Given the description of an element on the screen output the (x, y) to click on. 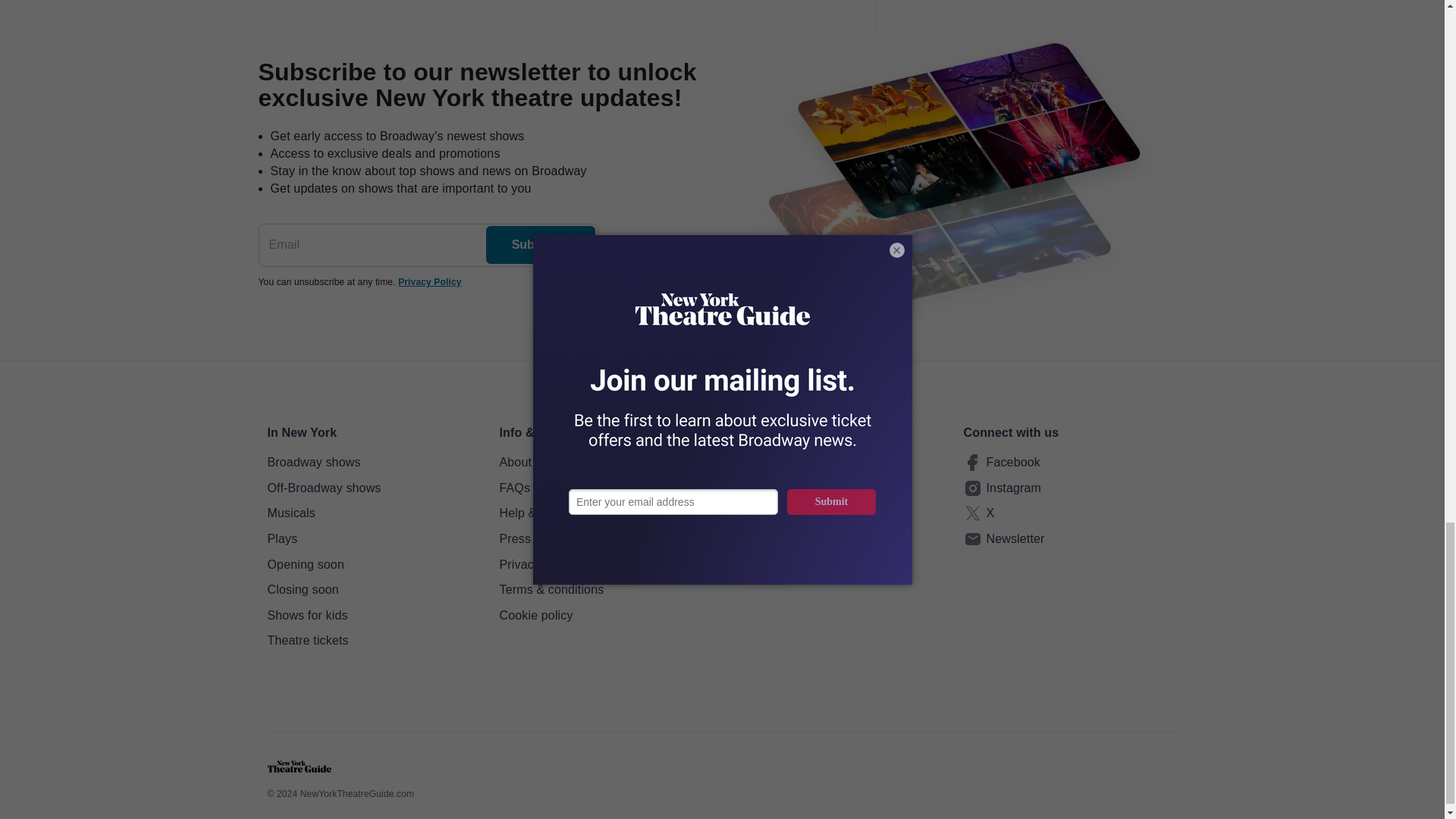
Shows for kids (373, 615)
Opening soon (373, 564)
Off-Broadway shows (373, 487)
Closing soon (373, 589)
Plays (373, 538)
Broadway shows (373, 462)
Musicals (373, 513)
